Given the description of an element on the screen output the (x, y) to click on. 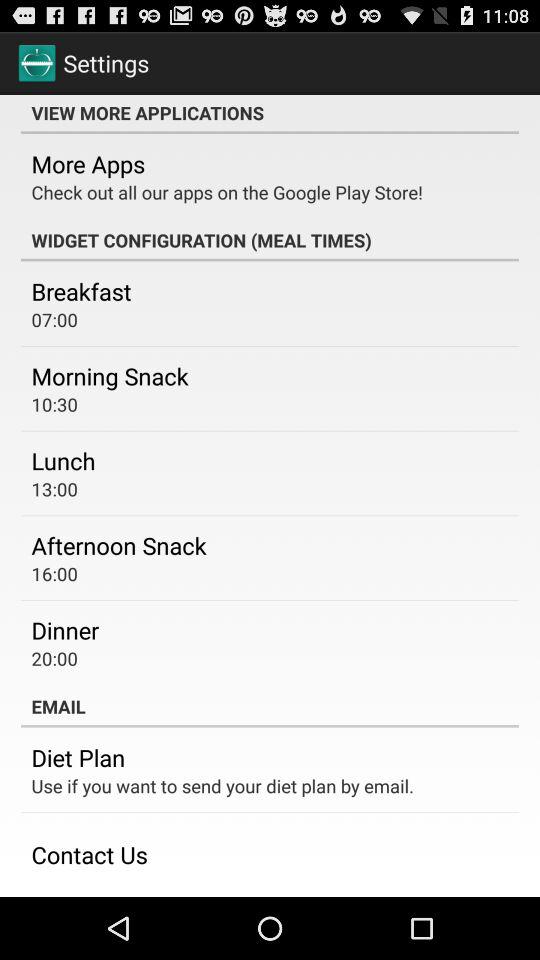
swipe until the dinner app (65, 630)
